Given the description of an element on the screen output the (x, y) to click on. 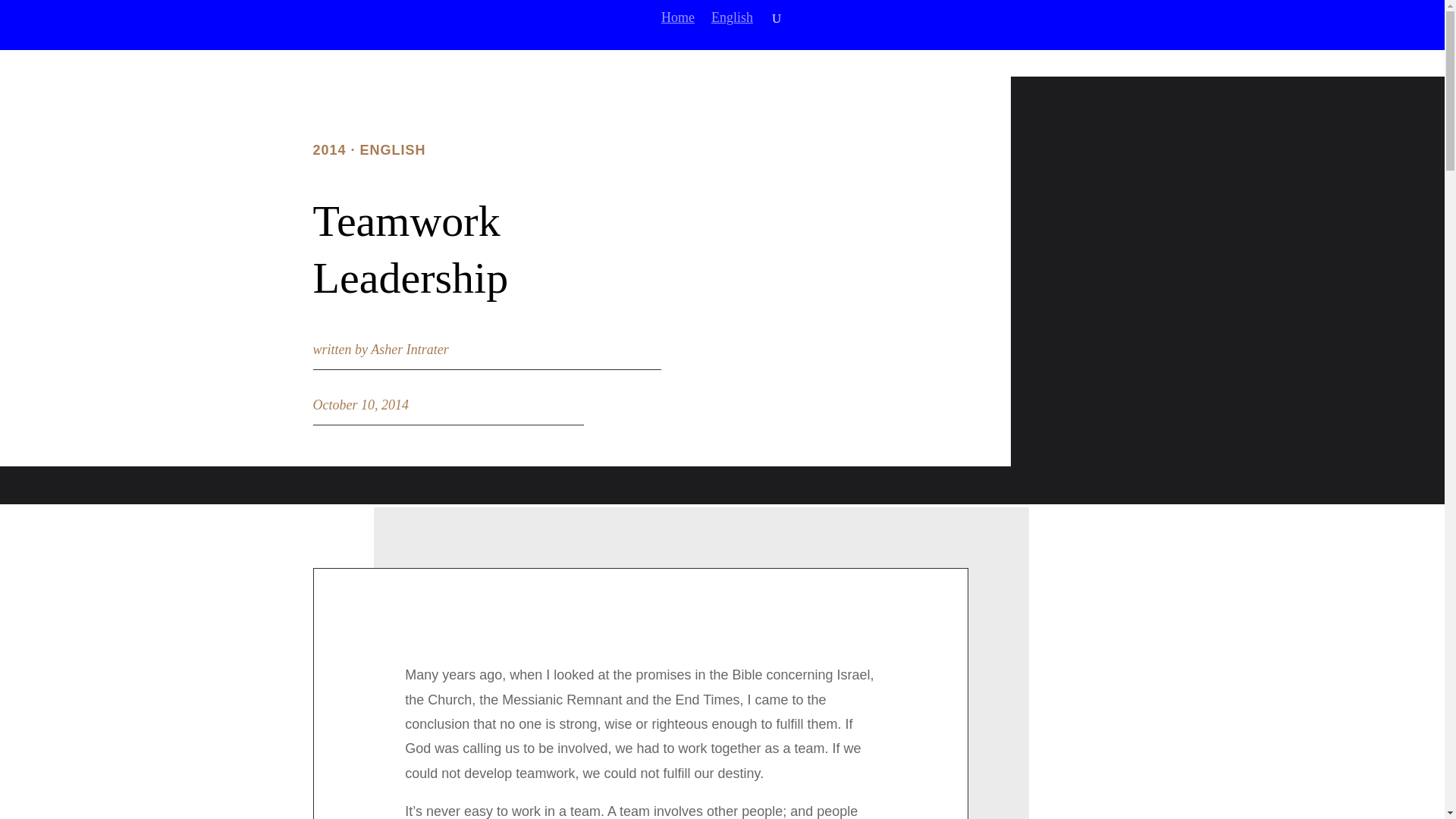
2014 (329, 150)
Asher Intrater (409, 349)
English (731, 30)
ENGLISH (392, 150)
